Given the description of an element on the screen output the (x, y) to click on. 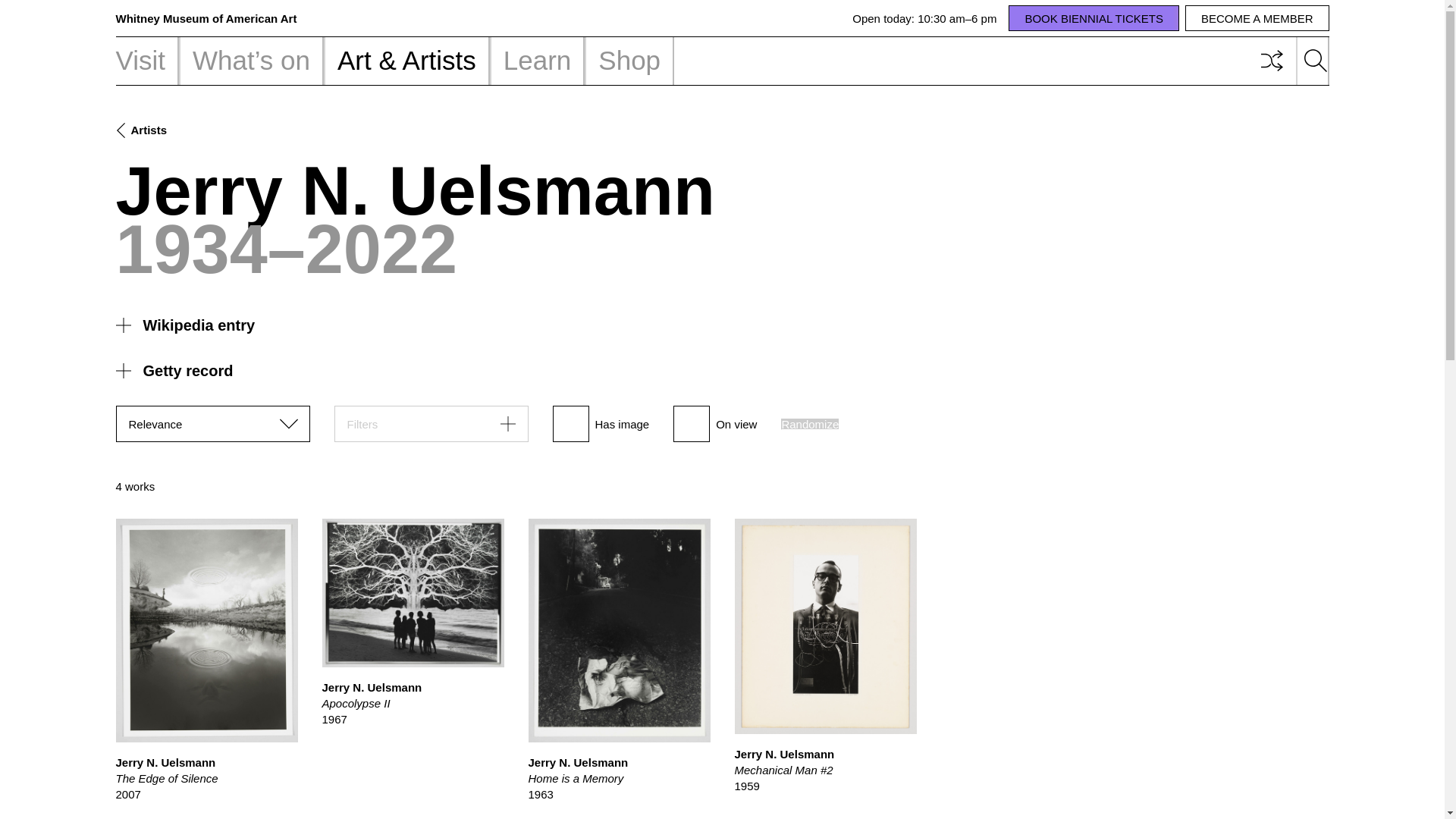
1 (691, 423)
Visit (147, 60)
1 (569, 423)
Learn (537, 60)
BECOME A MEMBER (1257, 18)
BOOK BIENNIAL TICKETS (1094, 18)
Whitney Museum of American Art (206, 18)
